Given the description of an element on the screen output the (x, y) to click on. 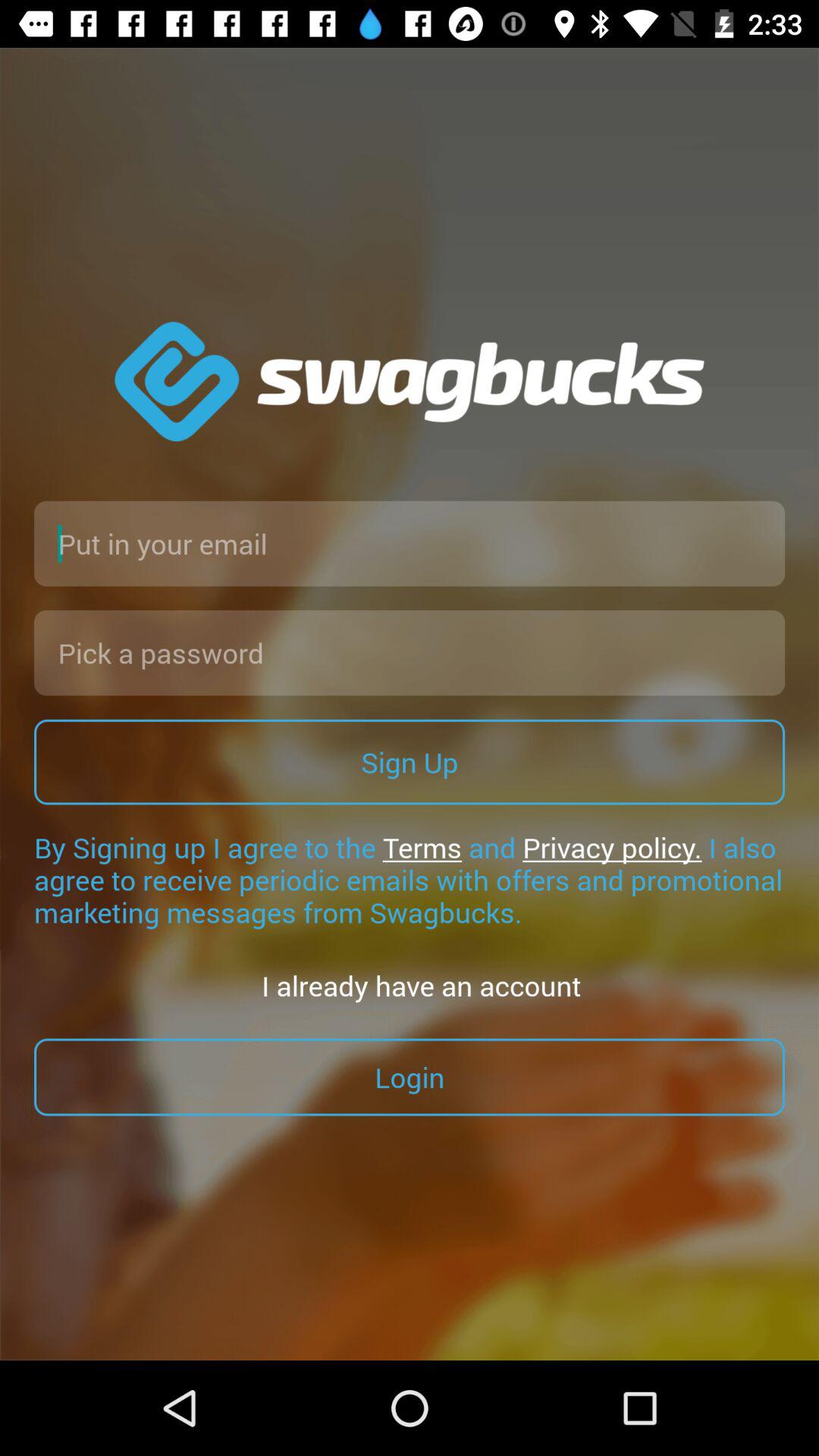
create a password (409, 652)
